Given the description of an element on the screen output the (x, y) to click on. 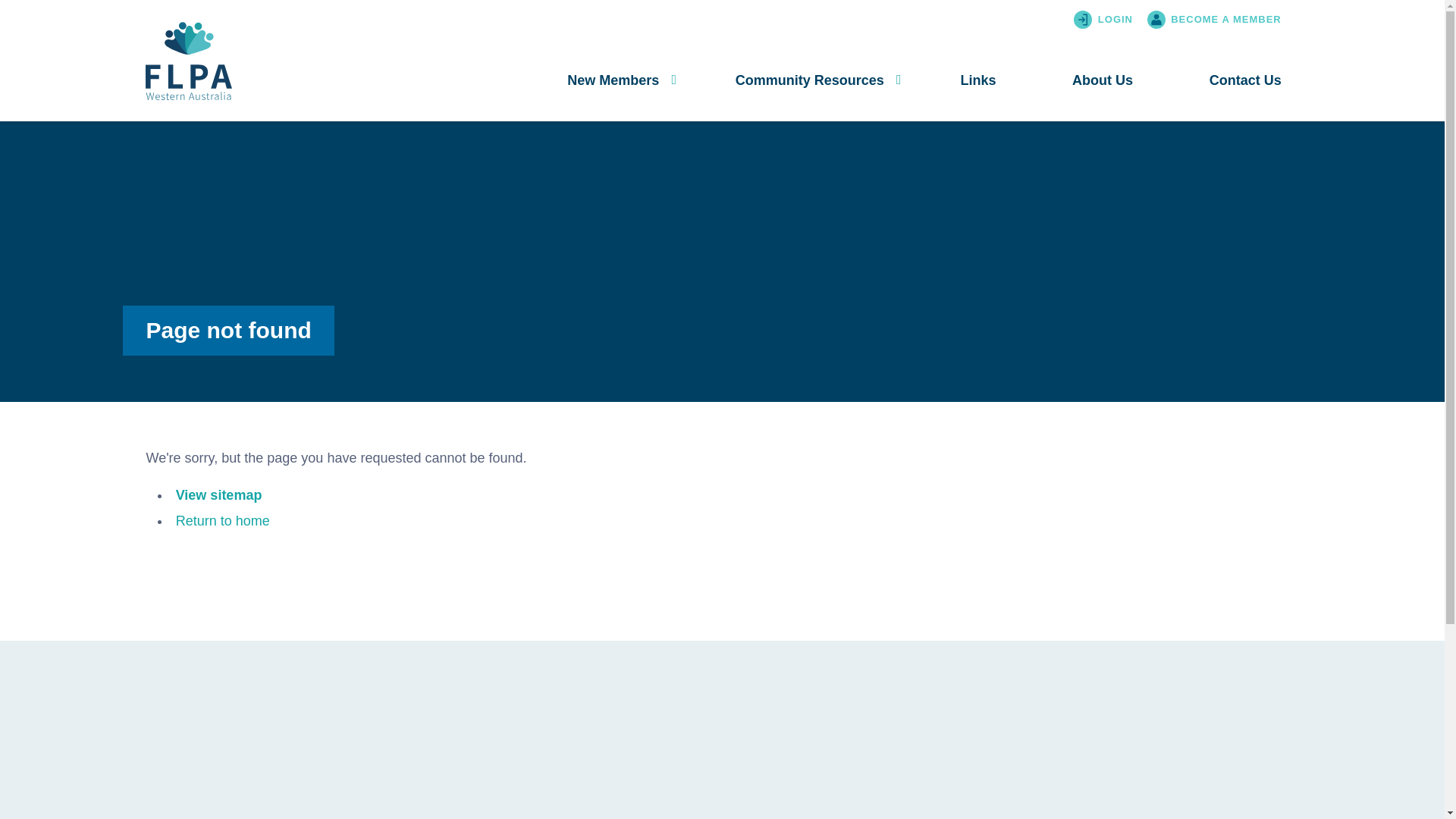
Community Resources Element type: text (809, 80)
Return to home Element type: text (222, 520)
Contact Us Element type: text (1245, 80)
New Members Element type: text (612, 80)
 LOGIN Element type: text (1117, 19)
View sitemap Element type: text (218, 494)
 BECOME A MEMBER Element type: text (1217, 19)
Links Element type: text (978, 80)
About Us Element type: text (1102, 80)
